Given the description of an element on the screen output the (x, y) to click on. 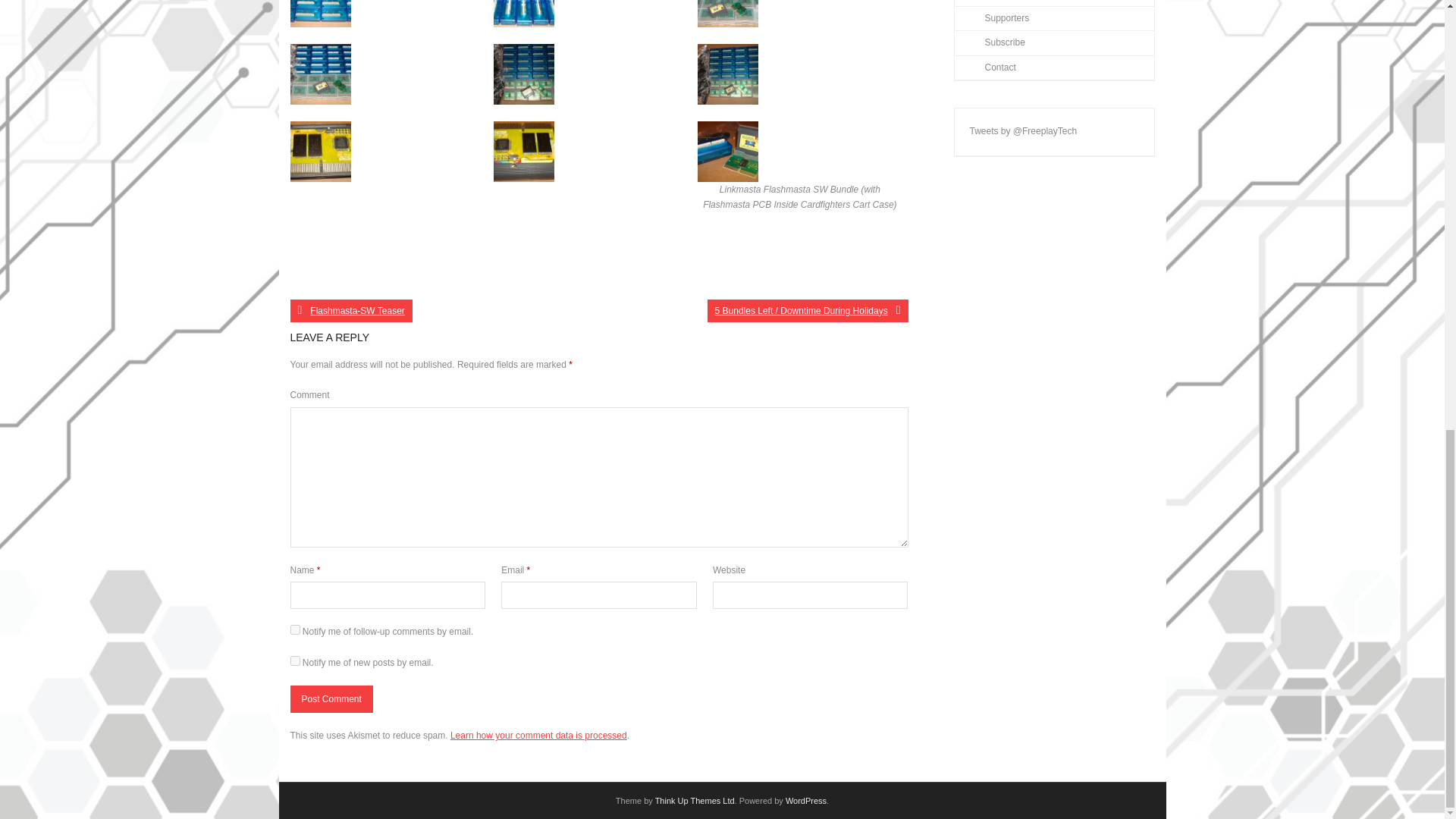
Post Comment (330, 698)
subscribe (294, 660)
subscribe (294, 629)
